Given the description of an element on the screen output the (x, y) to click on. 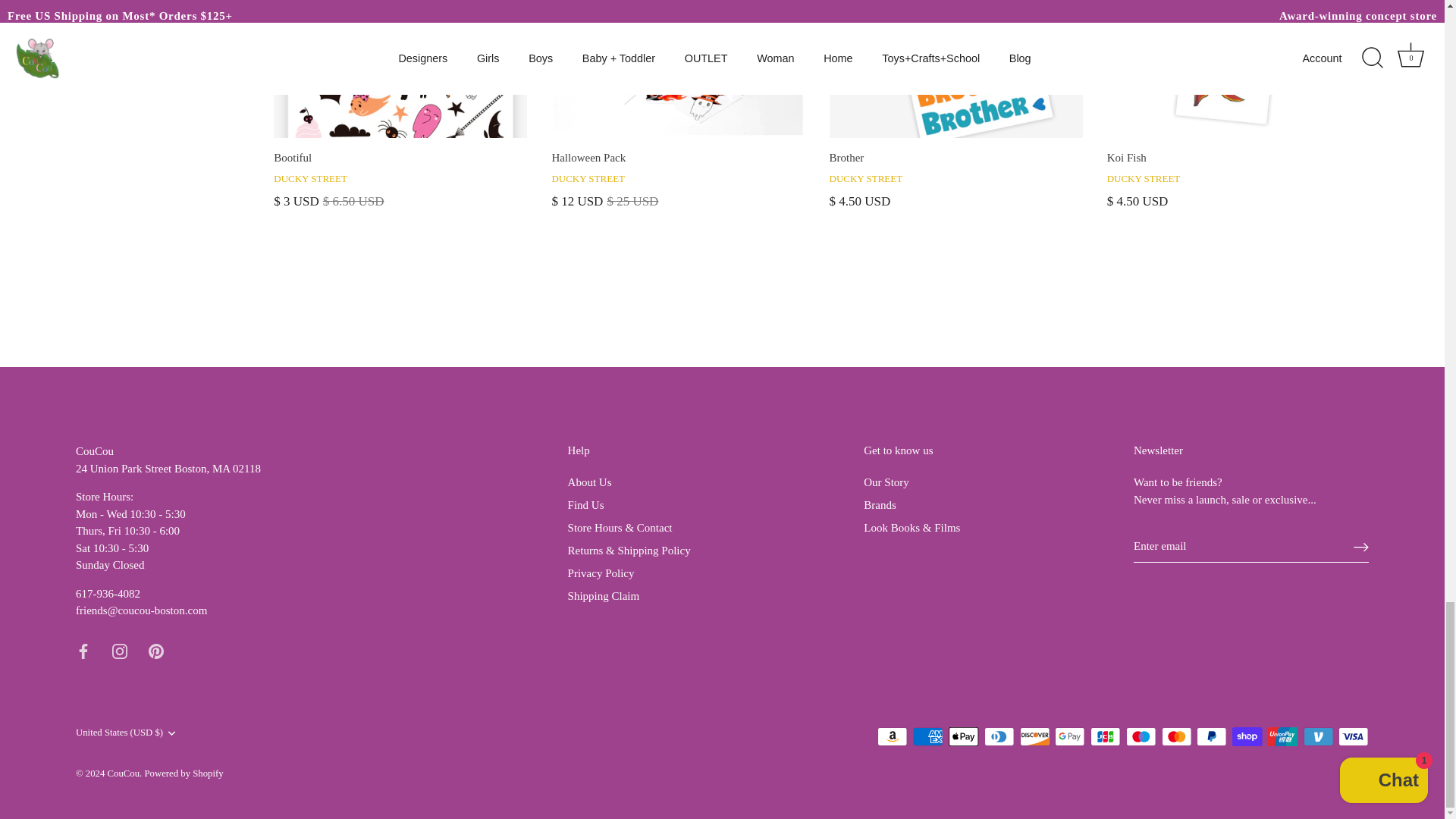
Visa (1353, 736)
Venmo (1318, 736)
Apple Pay (963, 736)
PayPal (1210, 736)
Maestro (1140, 736)
Instagram (120, 651)
JCB (1105, 736)
Union Pay (1282, 736)
Google Pay (1069, 736)
Pinterest (155, 651)
American Express (927, 736)
Diners Club (999, 736)
Discover (1034, 736)
Amazon (892, 736)
Right arrow long (1361, 547)
